Given the description of an element on the screen output the (x, y) to click on. 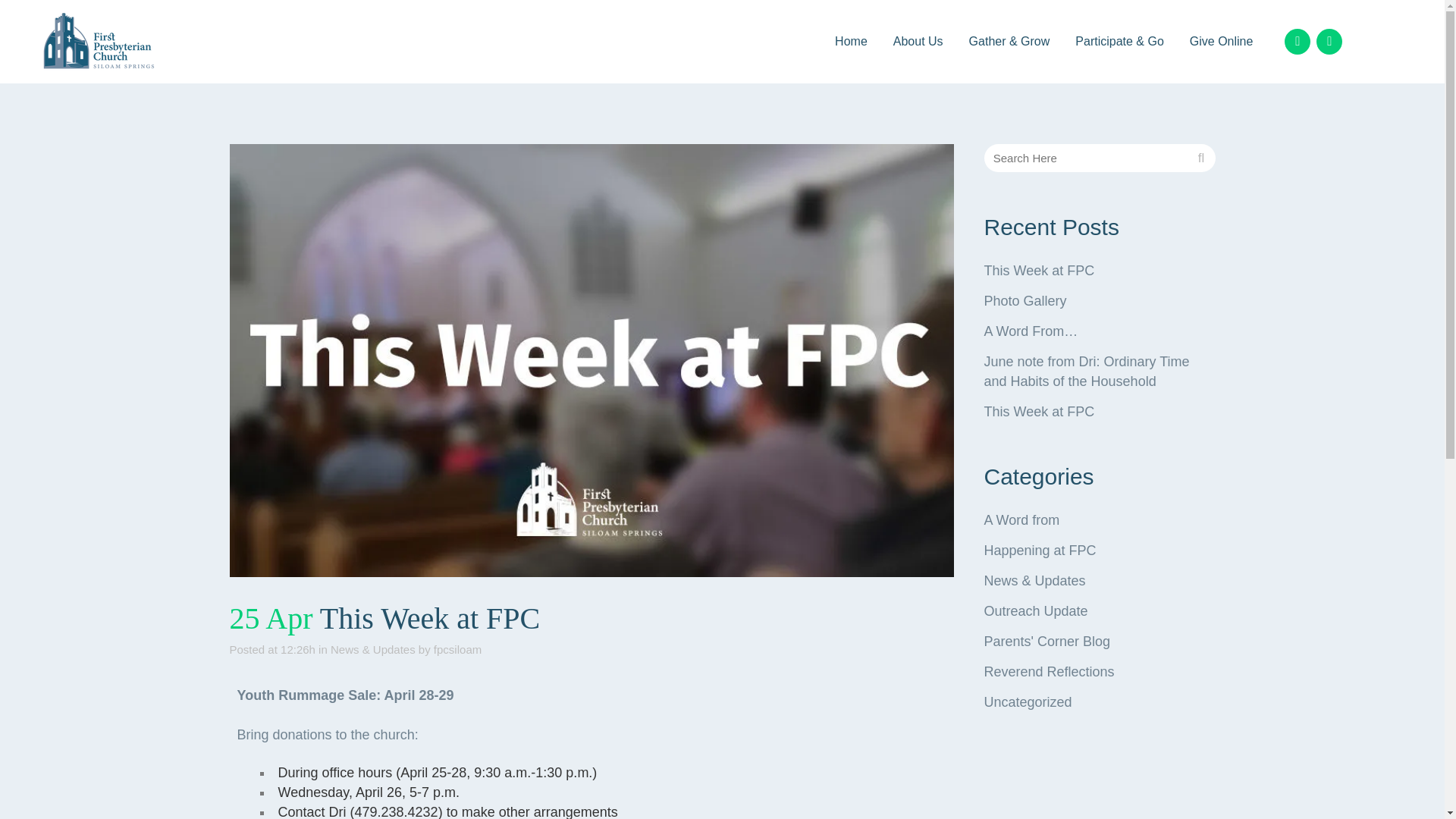
Home (851, 41)
About Us (918, 41)
Give Online (1221, 41)
